Given the description of an element on the screen output the (x, y) to click on. 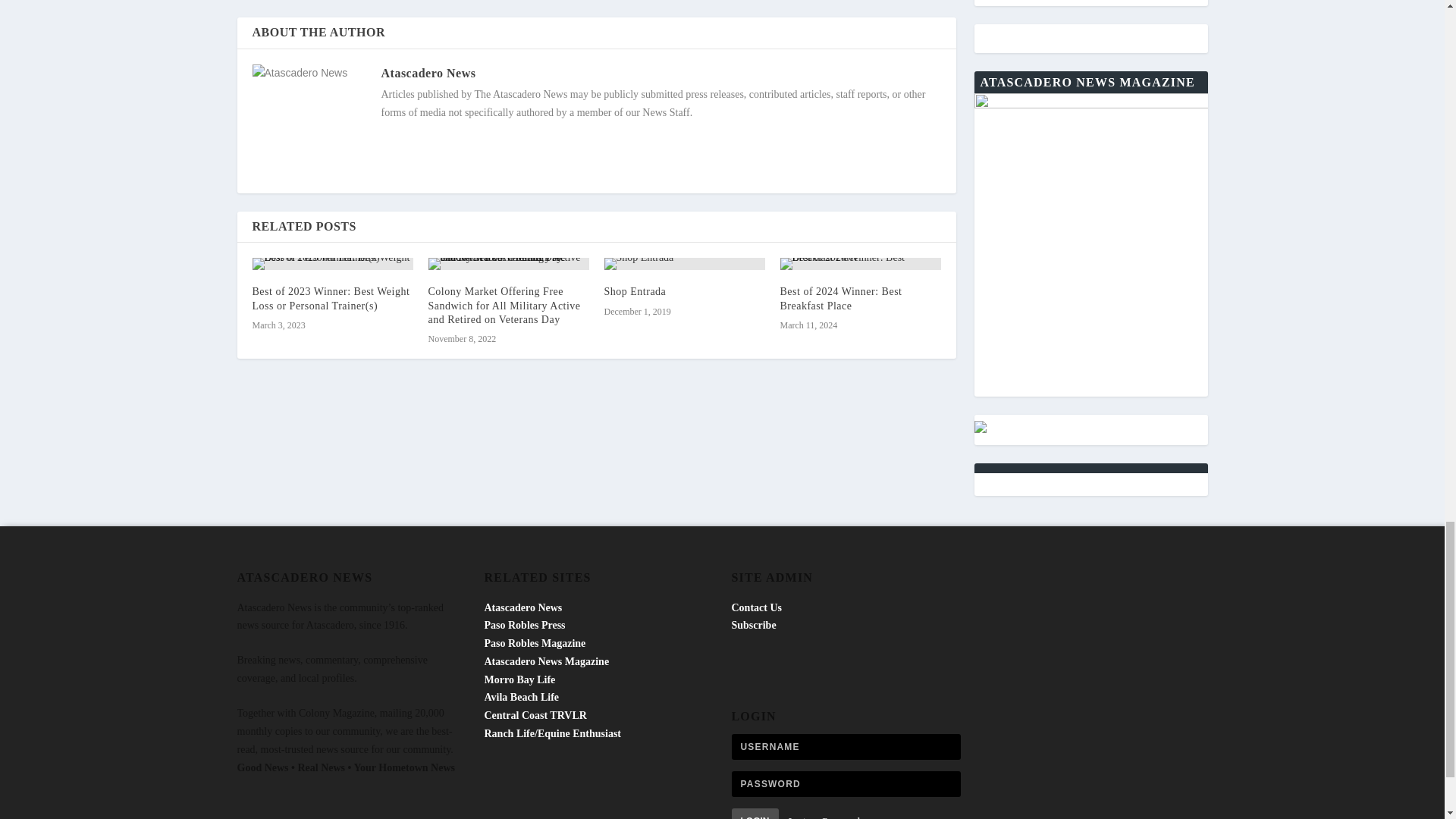
Best of 2024 Winner: Best Breakfast Place (839, 298)
Shop Entrada (634, 291)
Shop Entrada (684, 263)
e-Edition (1090, 2)
Atascadero News (428, 72)
Best of 2024 Winner: Best Breakfast Place (859, 263)
View all posts by Atascadero News (428, 72)
